Given the description of an element on the screen output the (x, y) to click on. 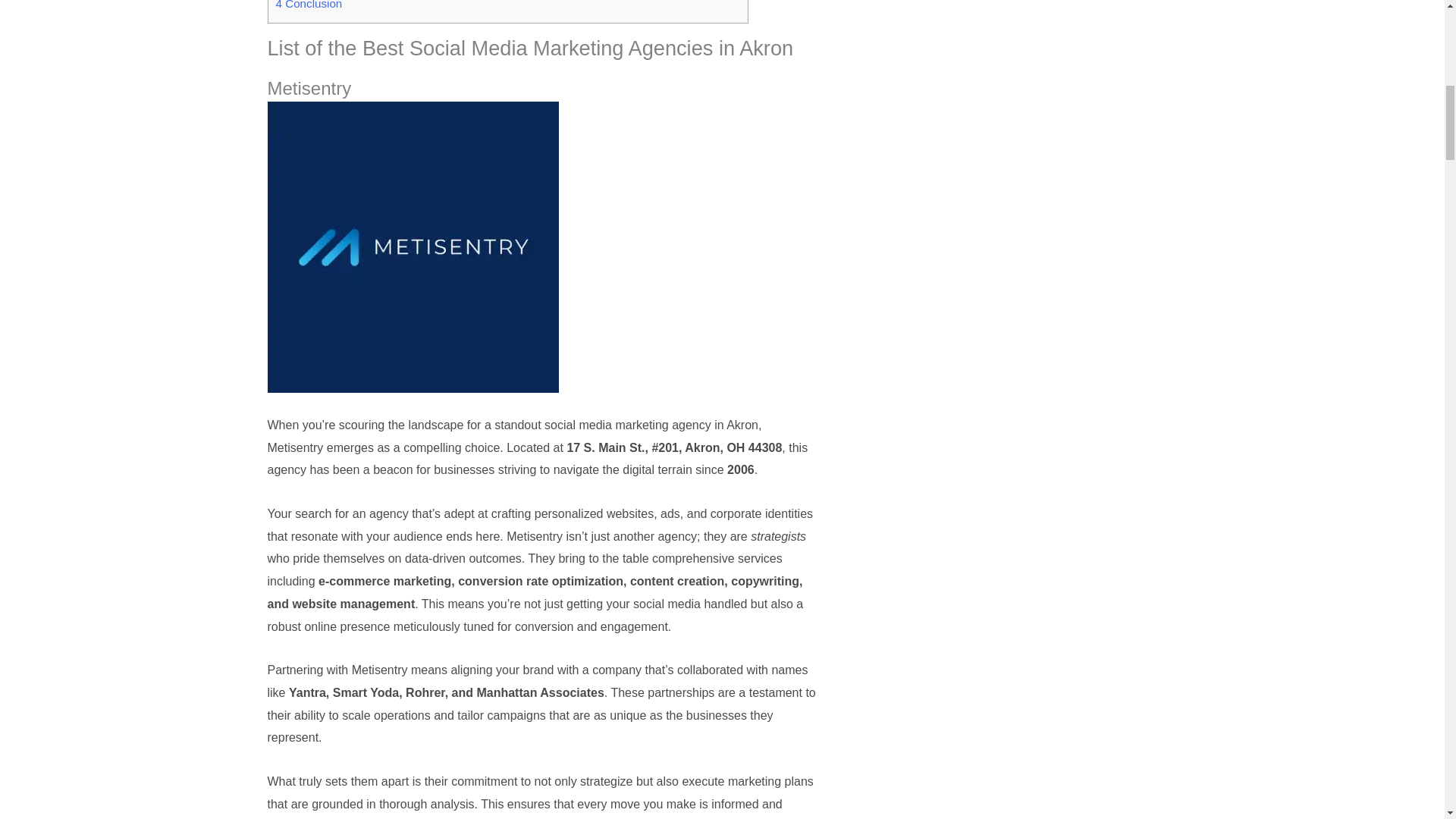
4 Conclusion (309, 4)
